Given the description of an element on the screen output the (x, y) to click on. 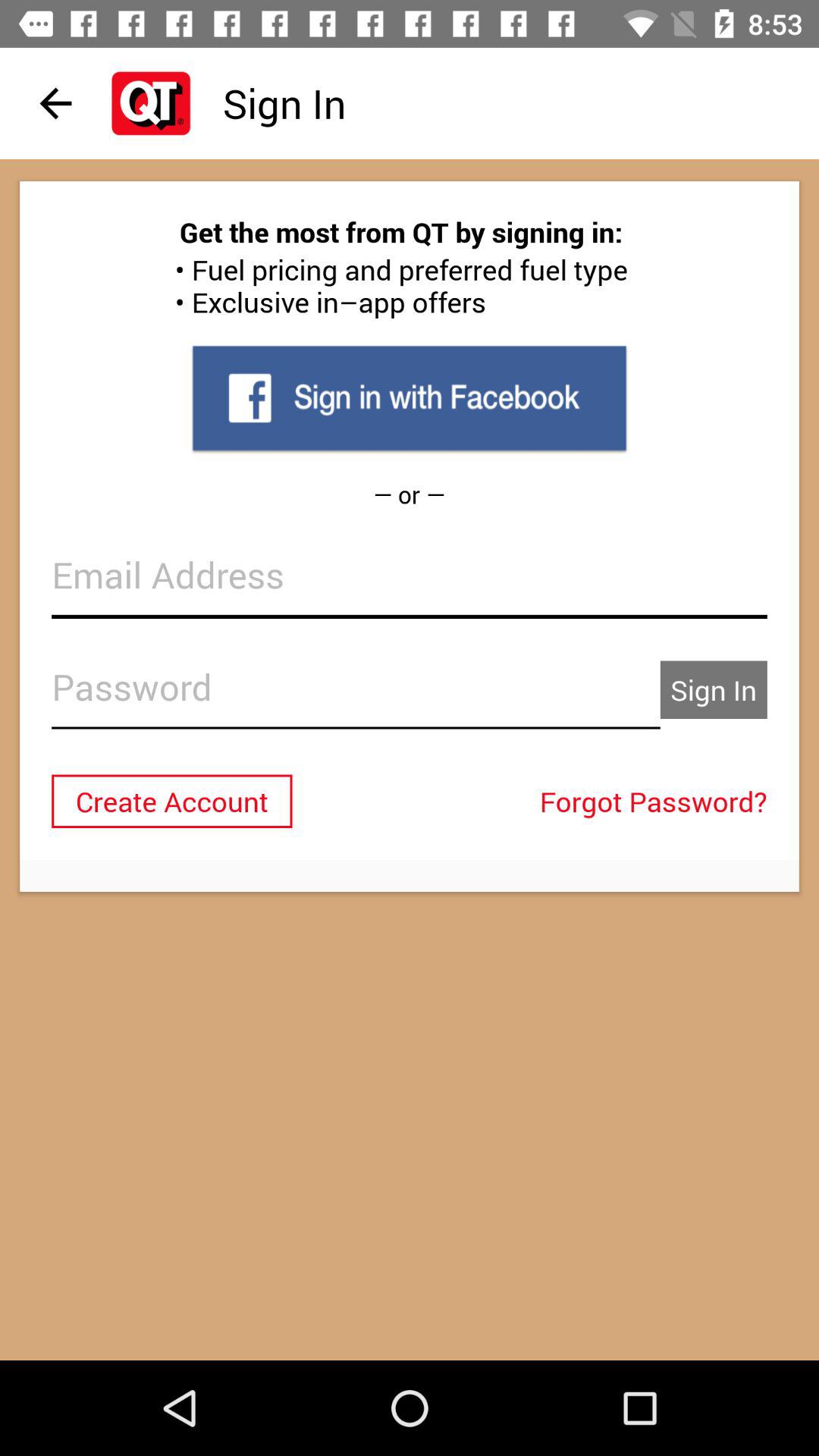
turn off the item next to forgot password? (171, 801)
